Given the description of an element on the screen output the (x, y) to click on. 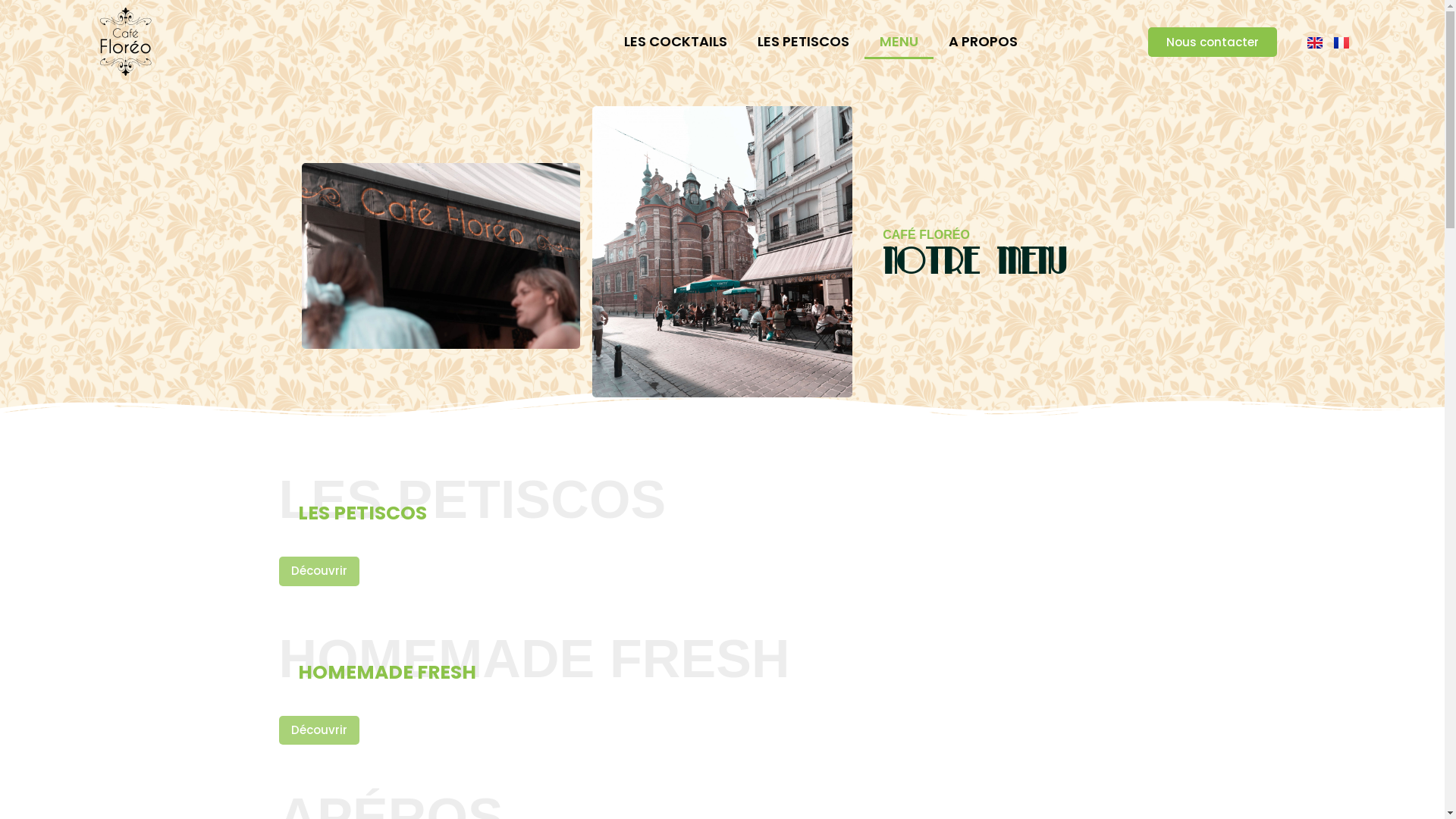
Nous contacter Element type: text (1212, 41)
MENU Element type: text (898, 41)
A PROPOS Element type: text (982, 41)
LES COCKTAILS Element type: text (675, 41)
LES PETISCOS Element type: text (803, 41)
